Given the description of an element on the screen output the (x, y) to click on. 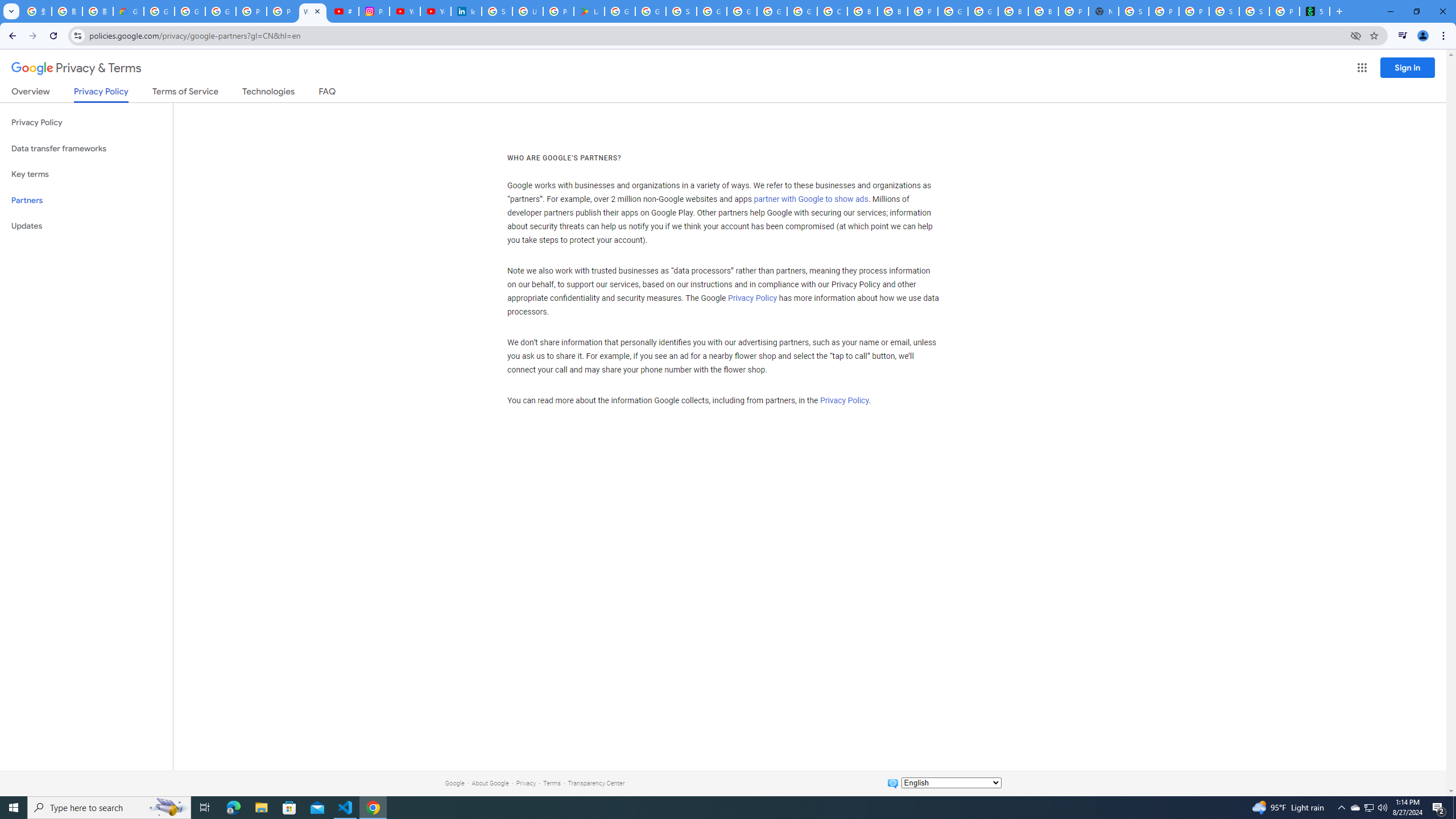
Google Cloud Platform (952, 11)
Browse Chrome as a guest - Computer - Google Chrome Help (1012, 11)
